Given the description of an element on the screen output the (x, y) to click on. 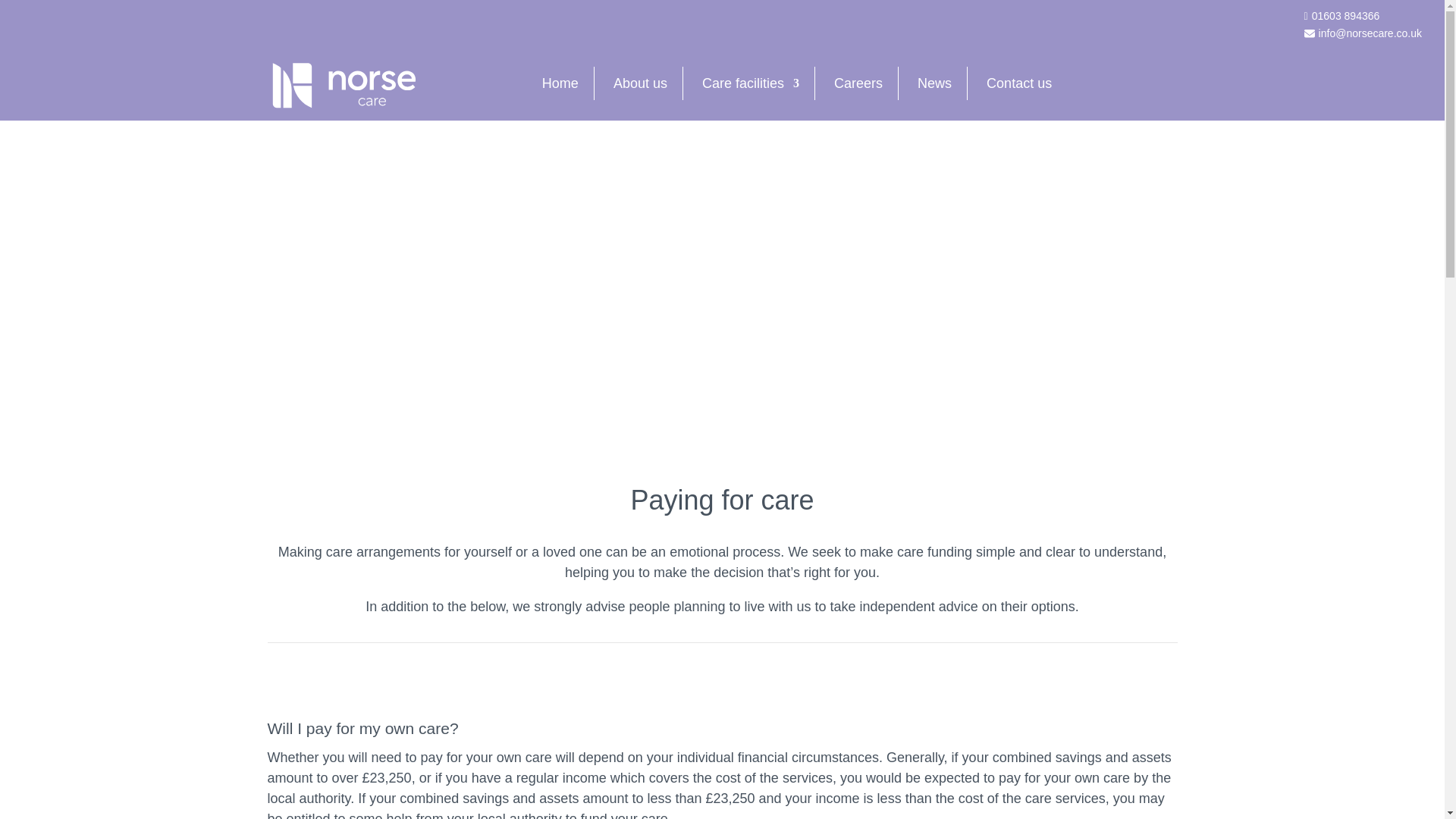
Careers (858, 82)
01603 894366 (1363, 16)
Contact us (1019, 82)
Home (559, 82)
News (934, 82)
About us (639, 82)
section-header (750, 82)
Care facilities (750, 82)
